Given the description of an element on the screen output the (x, y) to click on. 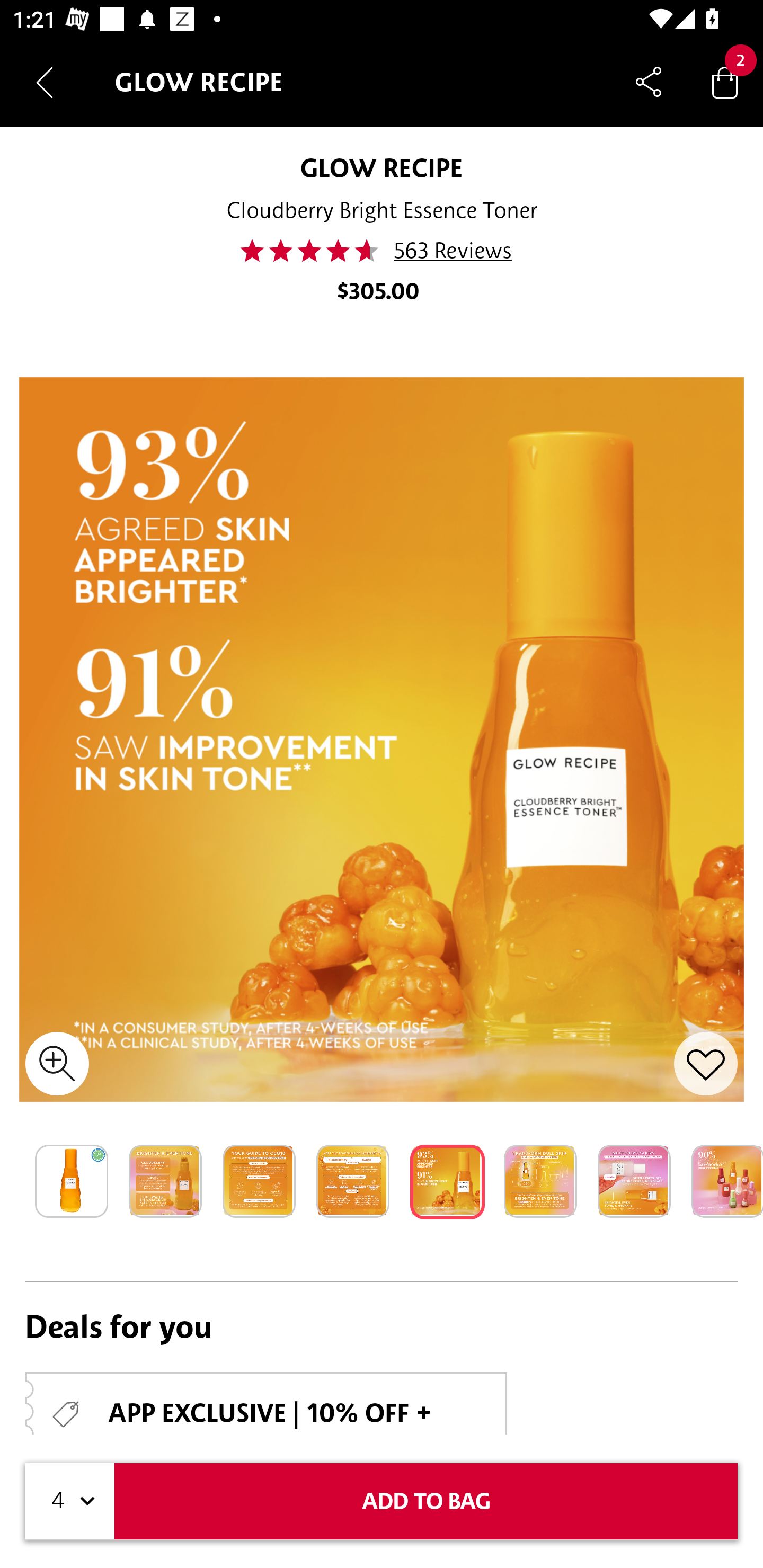
Navigate up (44, 82)
Share (648, 81)
Bag (724, 81)
GLOW RECIPE (381, 167)
46.0 563 Reviews (381, 250)
4 (69, 1500)
ADD TO BAG (425, 1500)
